Given the description of an element on the screen output the (x, y) to click on. 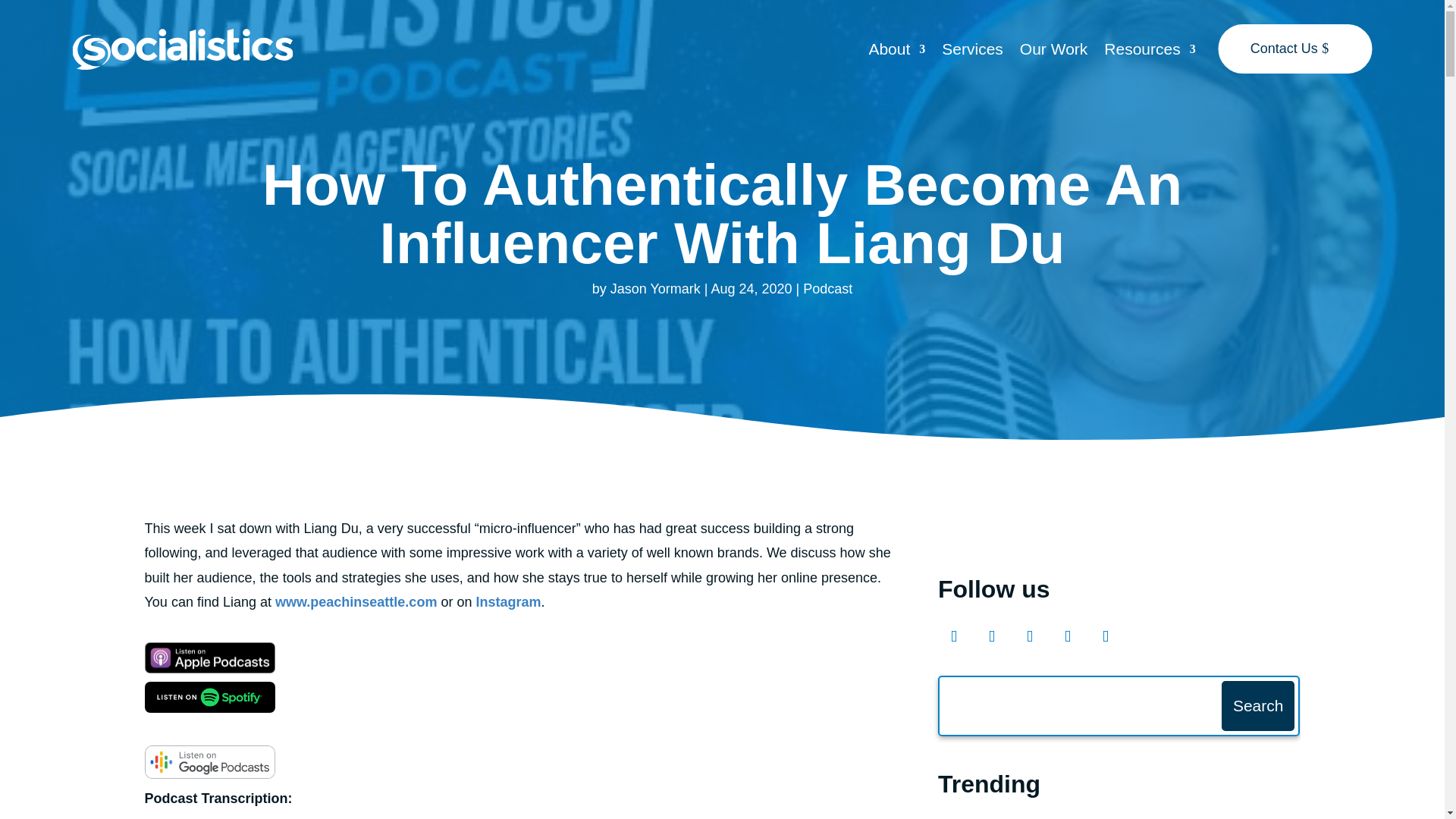
socialistics-logo-d (181, 48)
Our Work (1053, 52)
Posts by Jason Yormark (655, 288)
Services (972, 52)
Follow on Instagram (991, 635)
Follow on Youtube (1067, 635)
Follow on Facebook (953, 635)
Search (1257, 705)
Follow on X (1029, 635)
Follow on LinkedIn (1105, 635)
Search (1257, 705)
Resources (1149, 52)
About (895, 52)
